Given the description of an element on the screen output the (x, y) to click on. 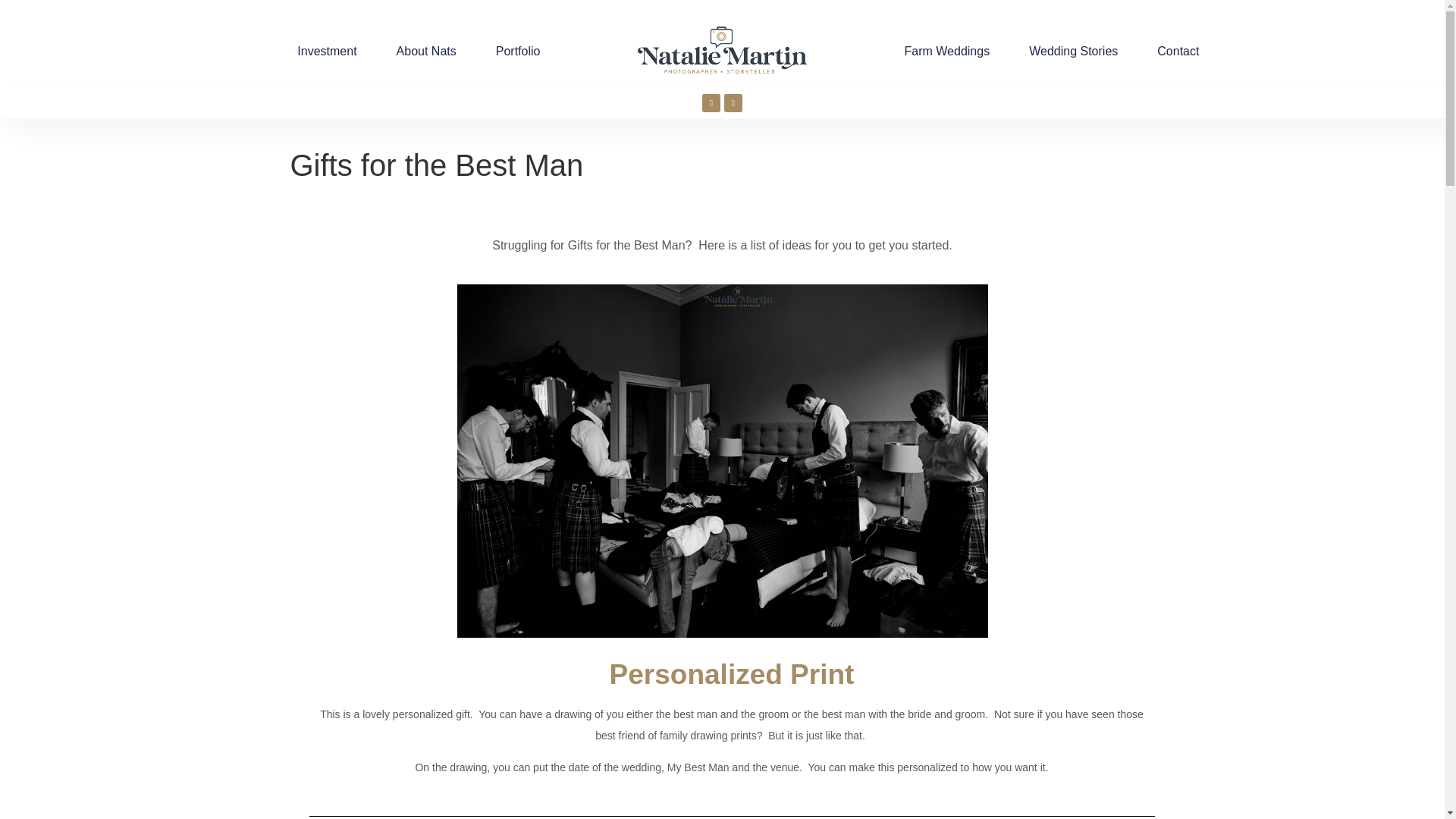
About Nats (426, 51)
Contact (1177, 51)
Investment (326, 51)
Wedding Stories (1073, 51)
Farm Weddings (947, 51)
Portfolio (518, 51)
